Given the description of an element on the screen output the (x, y) to click on. 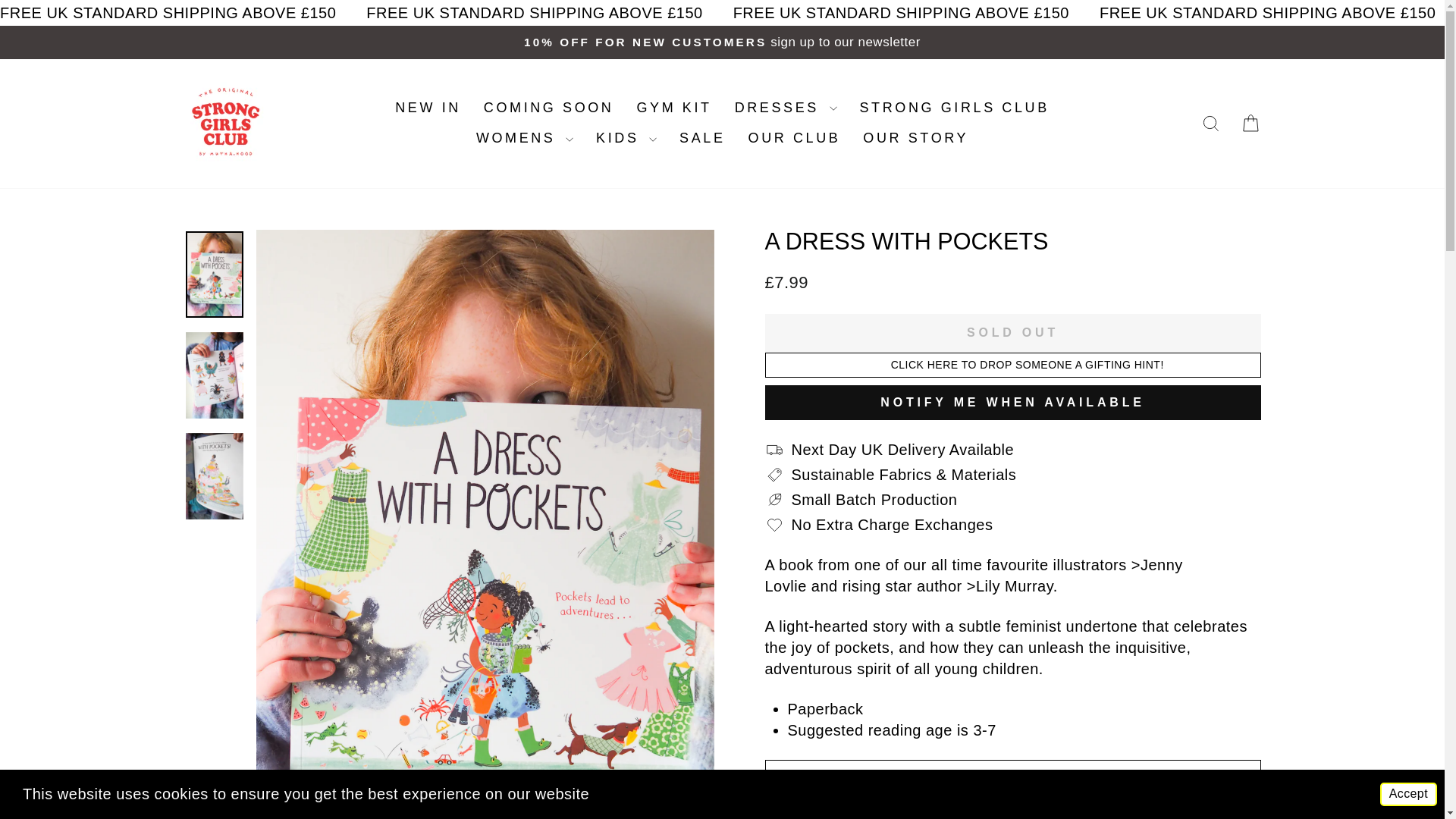
ICON-SEARCH (1210, 123)
